Given the description of an element on the screen output the (x, y) to click on. 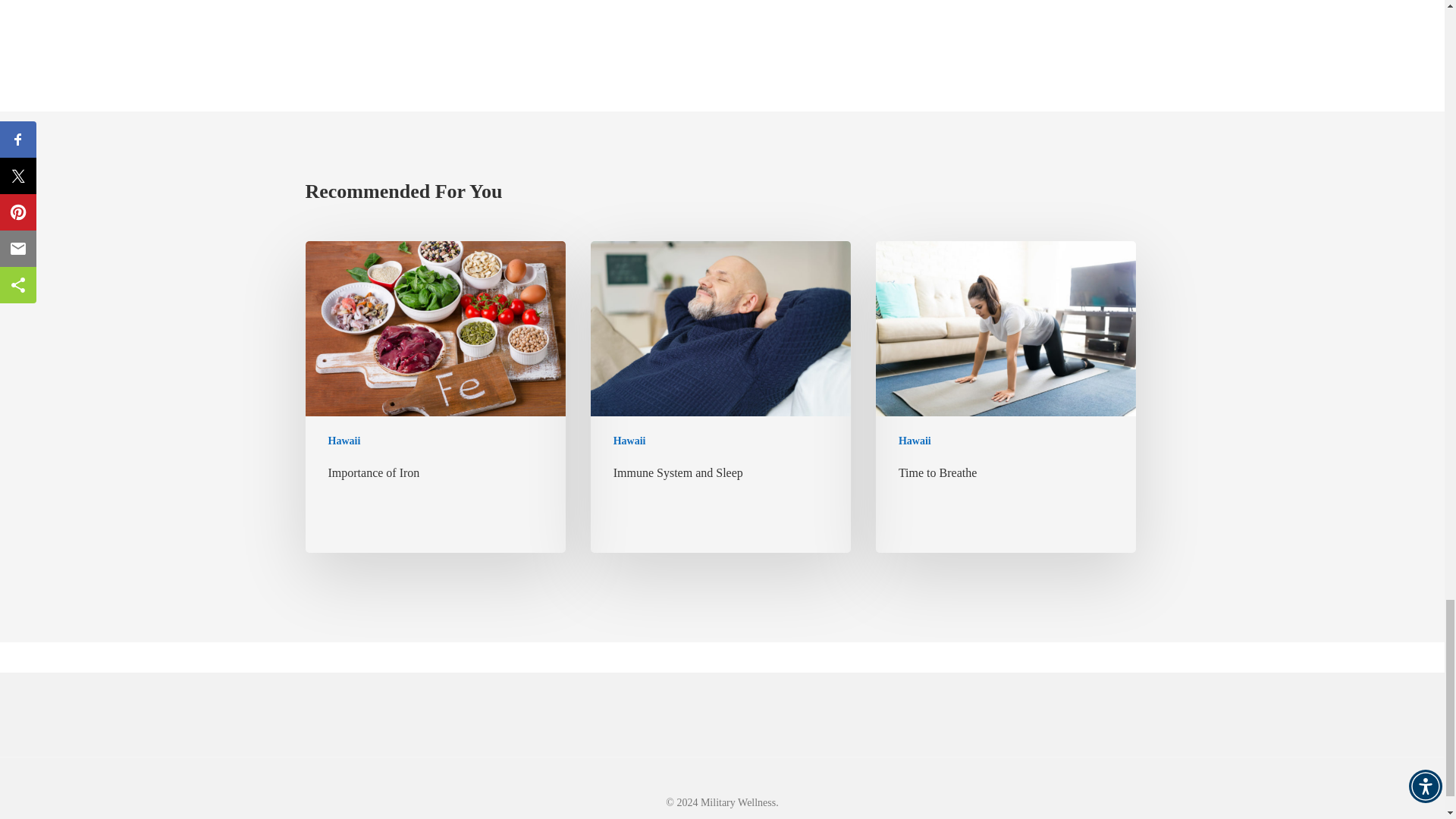
Hawaii (629, 440)
Hawaii (914, 440)
Hawaii (343, 440)
